Given the description of an element on the screen output the (x, y) to click on. 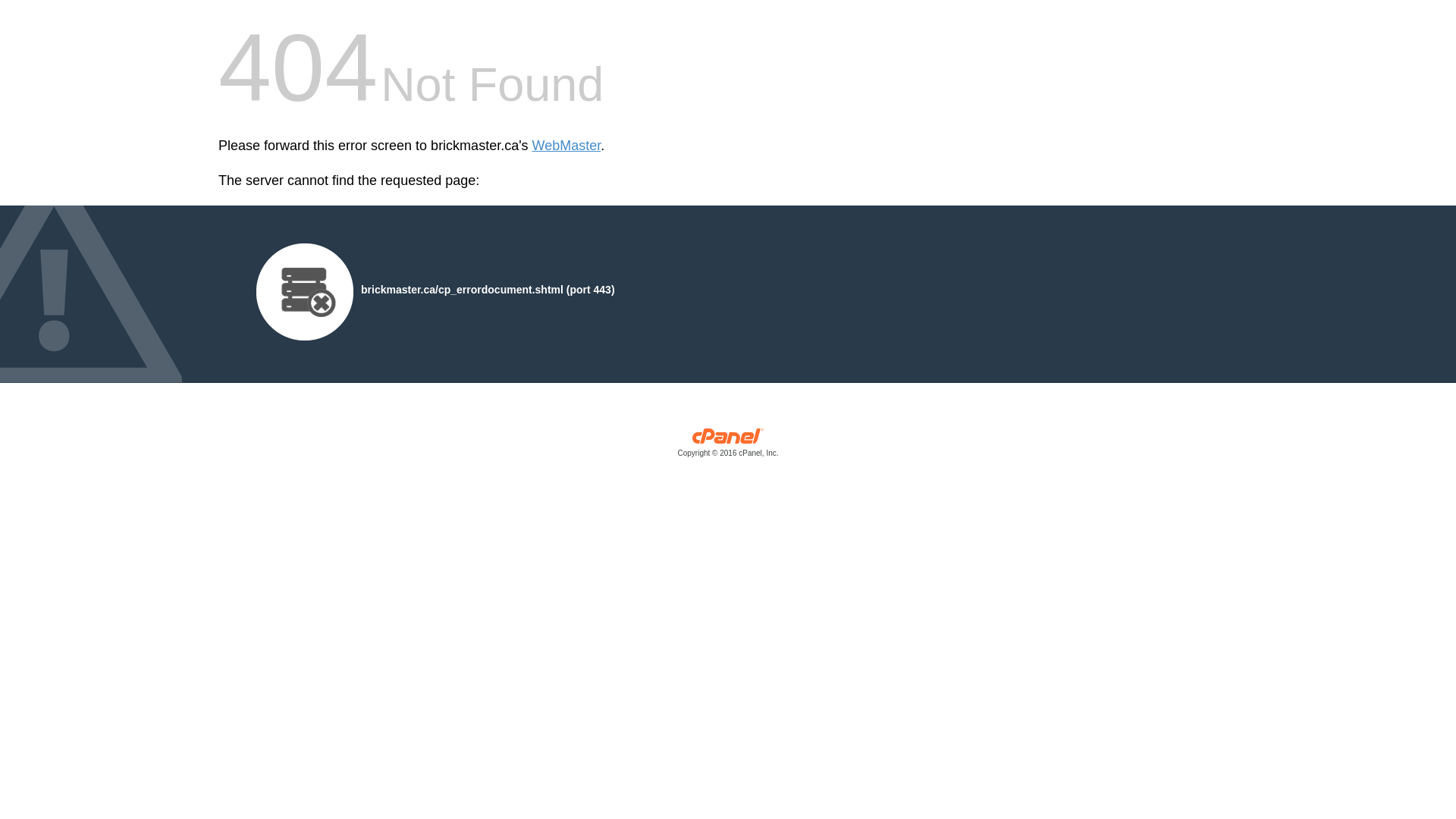
WebMaster (566, 145)
cPanel, Inc. (727, 446)
